Given the description of an element on the screen output the (x, y) to click on. 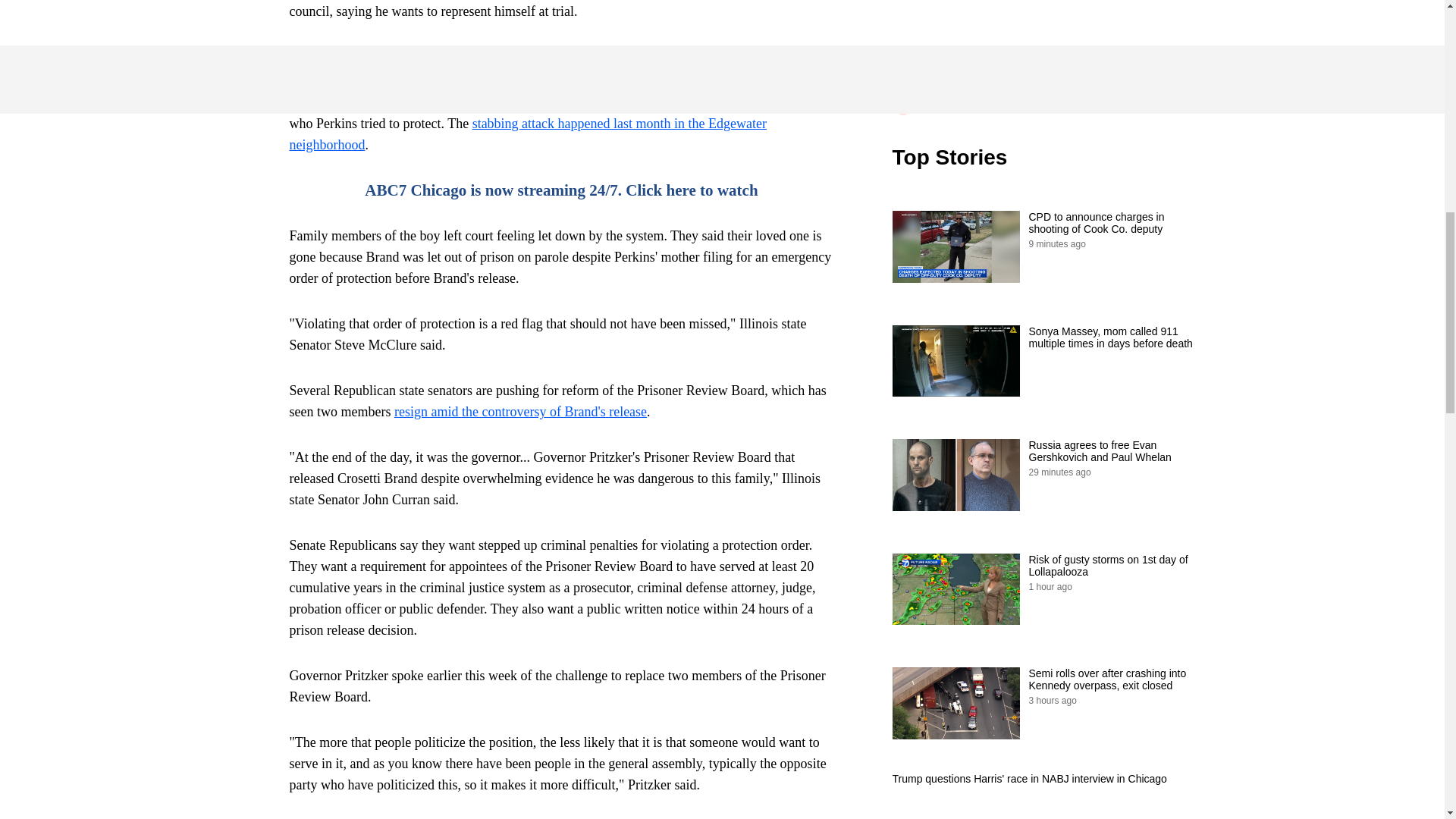
video.title (1043, 48)
